Given the description of an element on the screen output the (x, y) to click on. 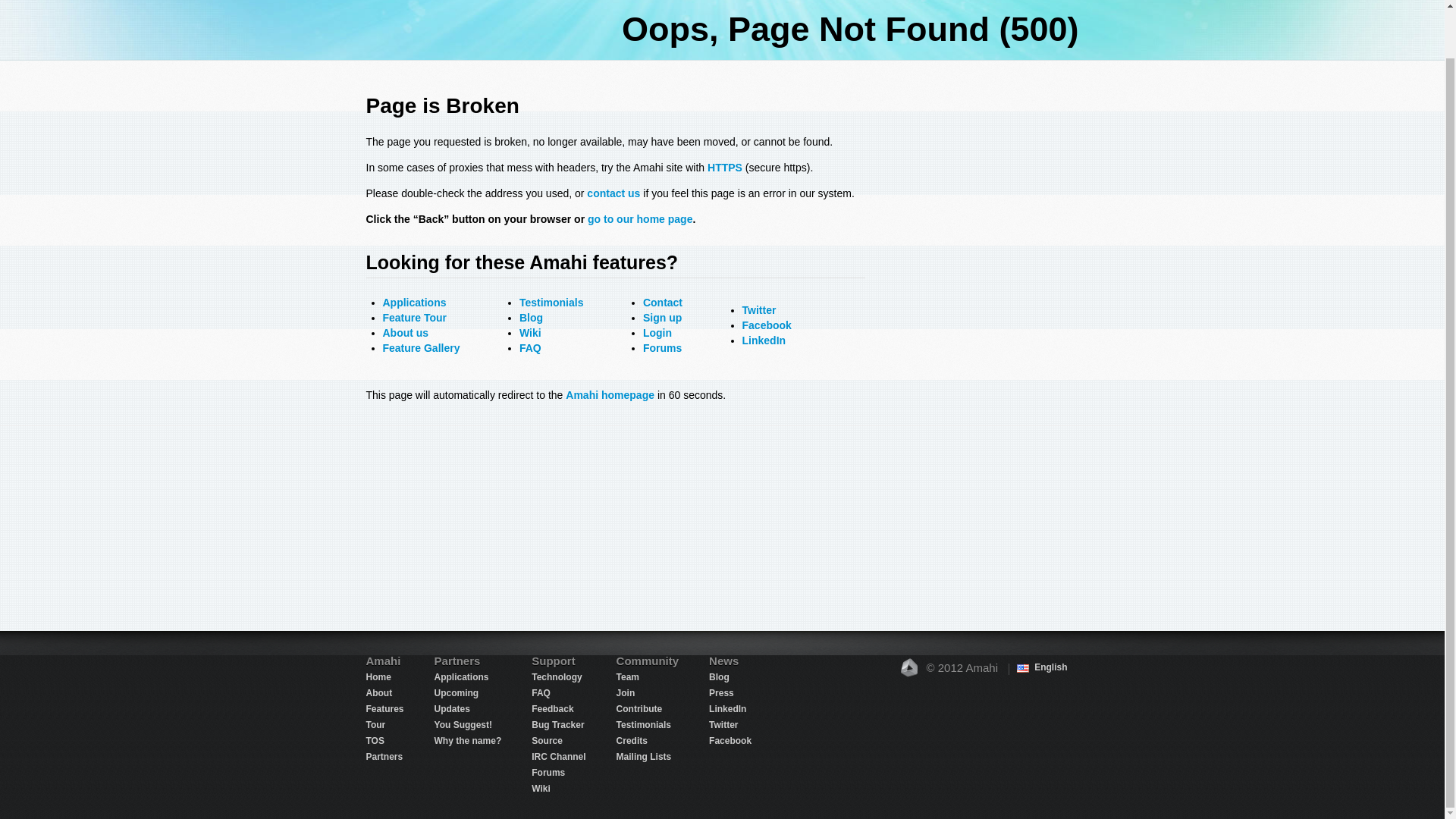
Applications (413, 302)
go to our home page (640, 218)
Twitter (759, 309)
FAQ (530, 347)
Forums (662, 347)
HTTPS (724, 167)
Feature Tour (413, 317)
translation missing: en.nav.partners (384, 756)
Sign up (662, 317)
Testimonials (551, 302)
